Given the description of an element on the screen output the (x, y) to click on. 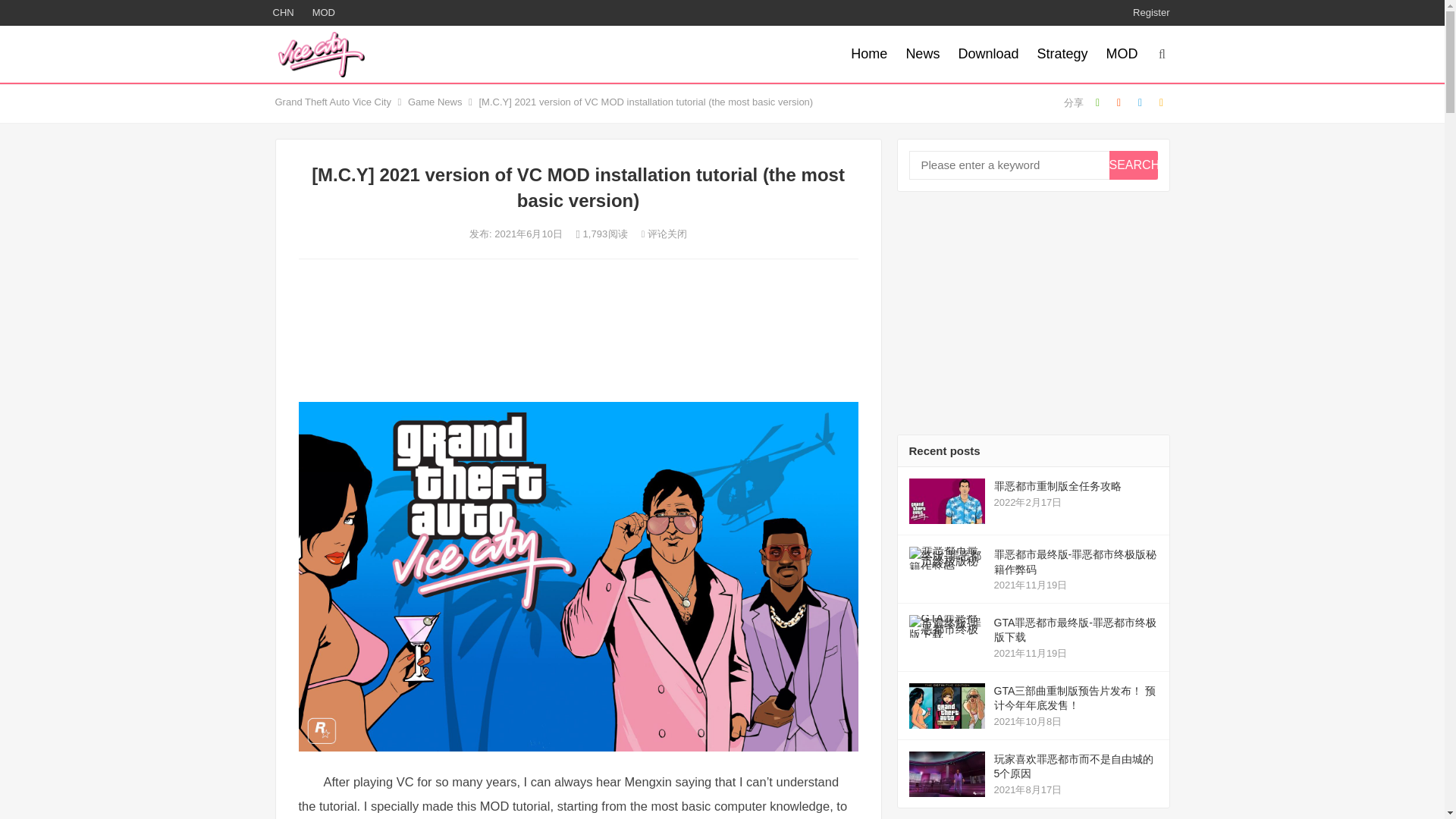
Grand Theft Auto Vice City (332, 101)
Advertisement (578, 332)
SEARCH (1132, 164)
Game News (435, 101)
Strategy (1061, 53)
MOD (322, 12)
News (922, 53)
Register (1150, 12)
CHN (282, 12)
Home (868, 53)
Advertisement (1032, 313)
Register (1150, 12)
Download (988, 53)
